Given the description of an element on the screen output the (x, y) to click on. 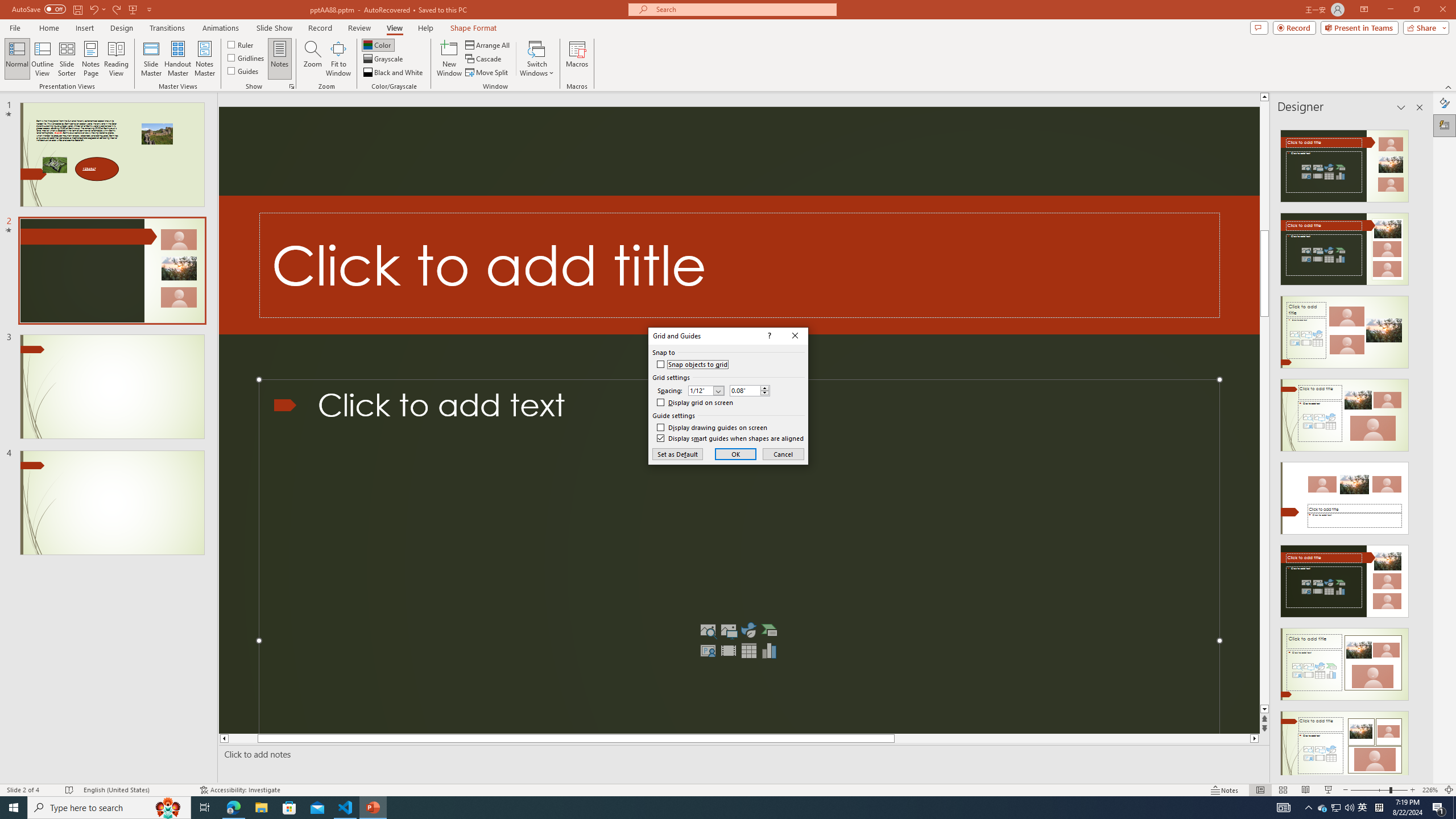
Black and White (1322, 807)
Set as Default (393, 72)
Handout Master (677, 453)
Format Background (177, 58)
Macros (1444, 102)
Insert a SmartArt Graphic (576, 58)
